Given the description of an element on the screen output the (x, y) to click on. 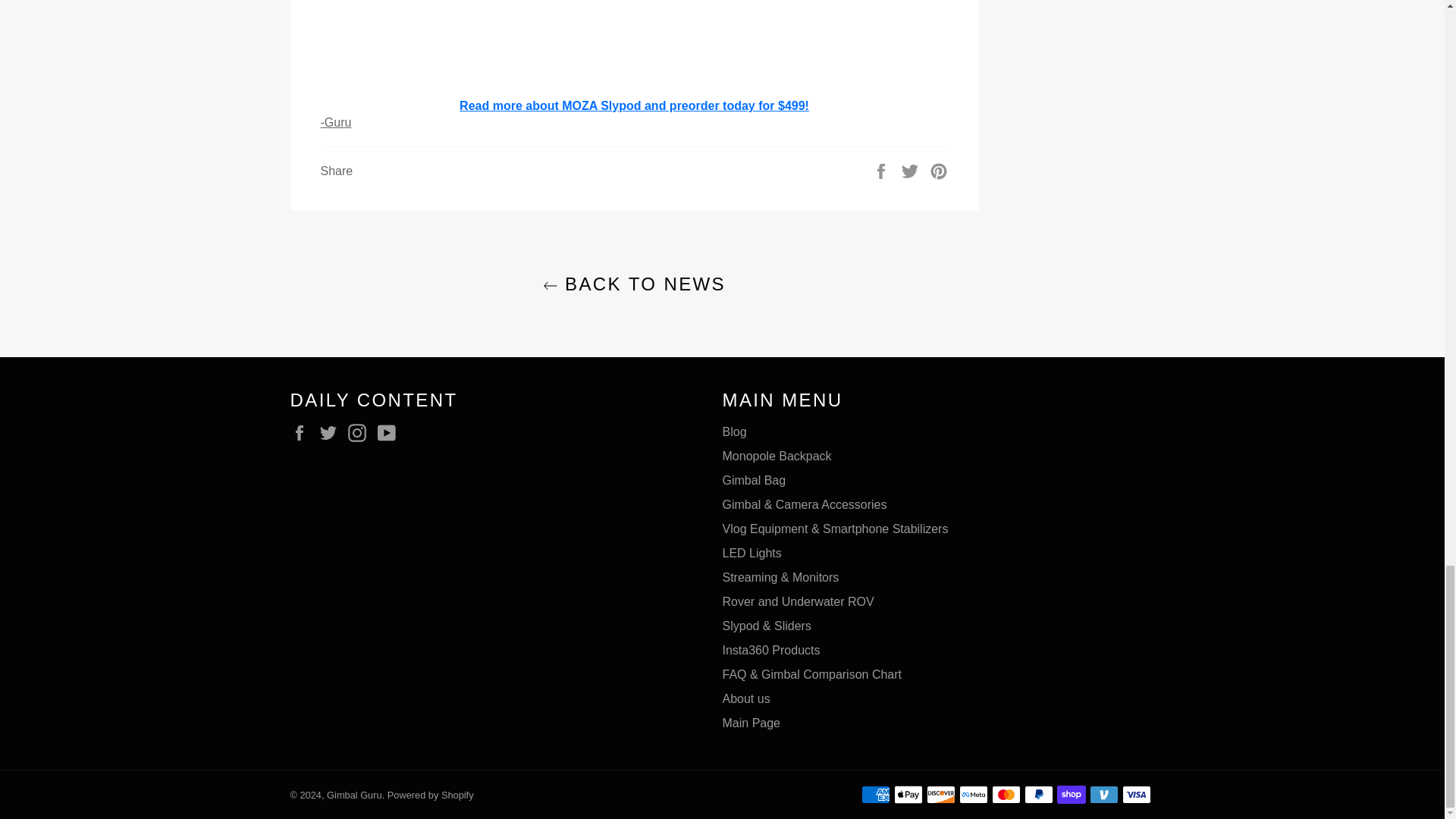
Gimbal Guru on Facebook (302, 433)
Tweet on Twitter (911, 169)
Gimbal Guru on Twitter (331, 433)
Pin on Pinterest (938, 169)
Gimbal Guru on Instagram (360, 433)
Share on Facebook (882, 169)
Gimbal Guru on YouTube (390, 433)
